Given the description of an element on the screen output the (x, y) to click on. 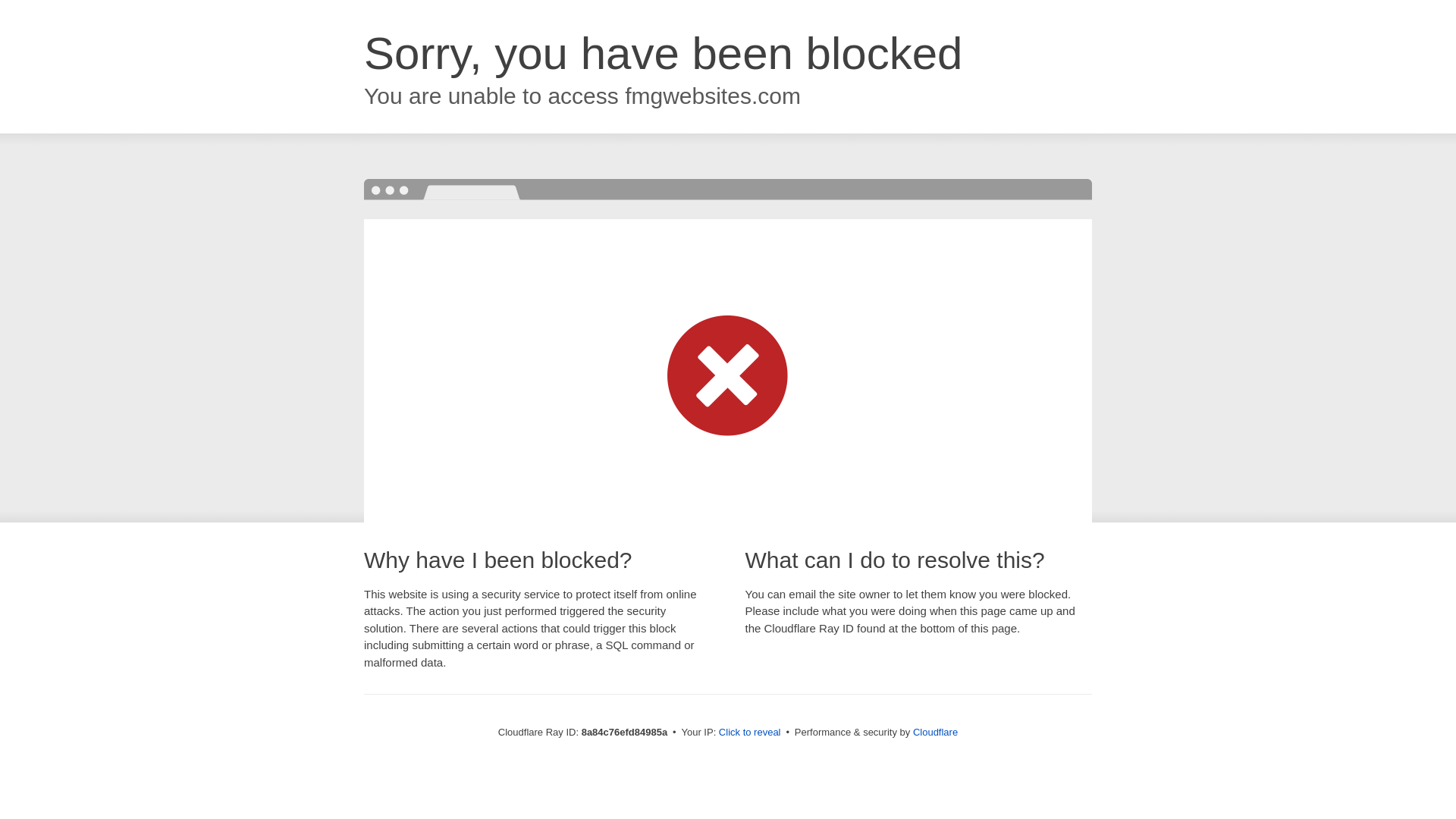
Click to reveal (749, 732)
Cloudflare (935, 731)
